Given the description of an element on the screen output the (x, y) to click on. 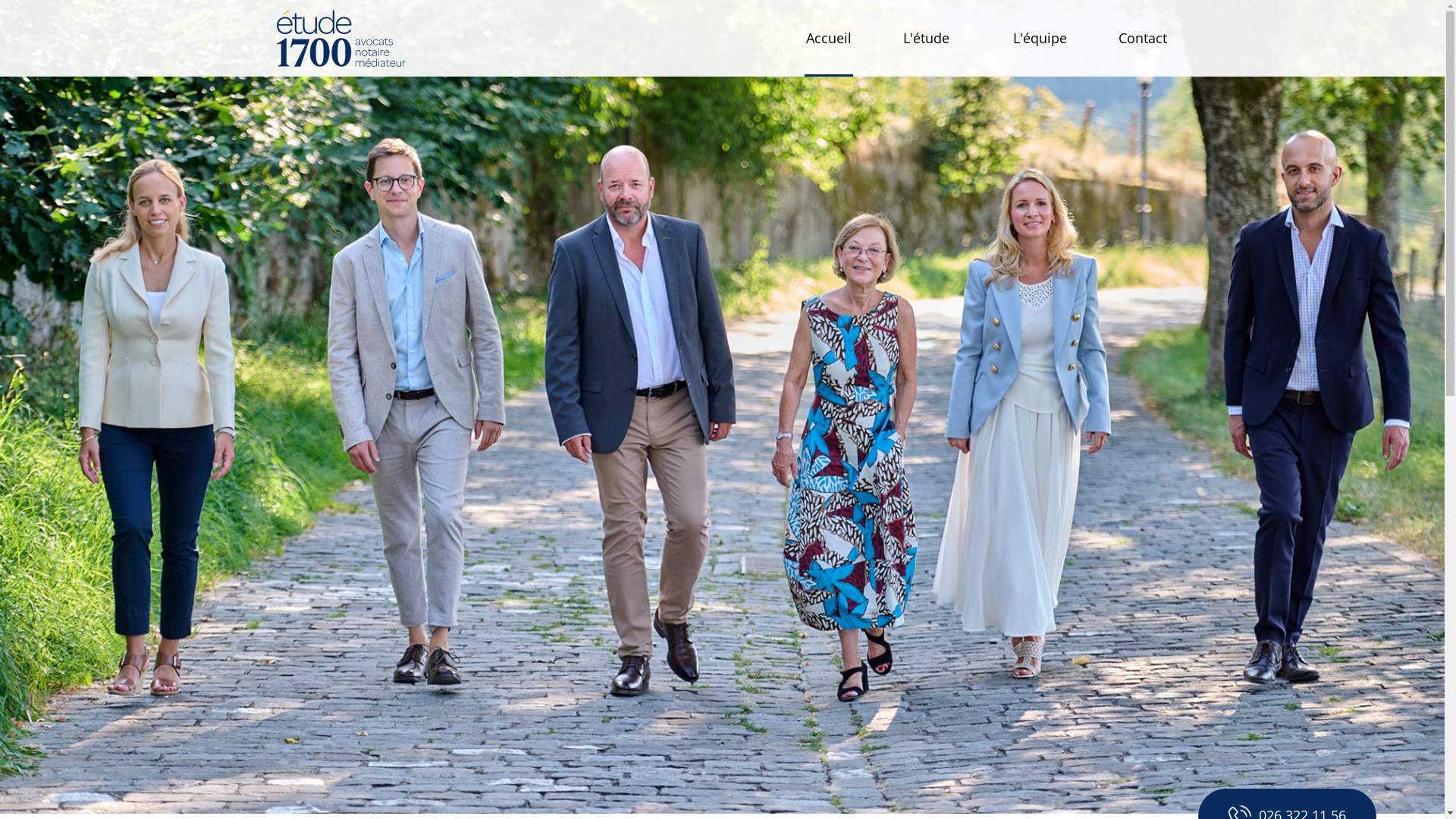
Contact Element type: text (1141, 38)
Accueil Element type: text (827, 38)
